Given the description of an element on the screen output the (x, y) to click on. 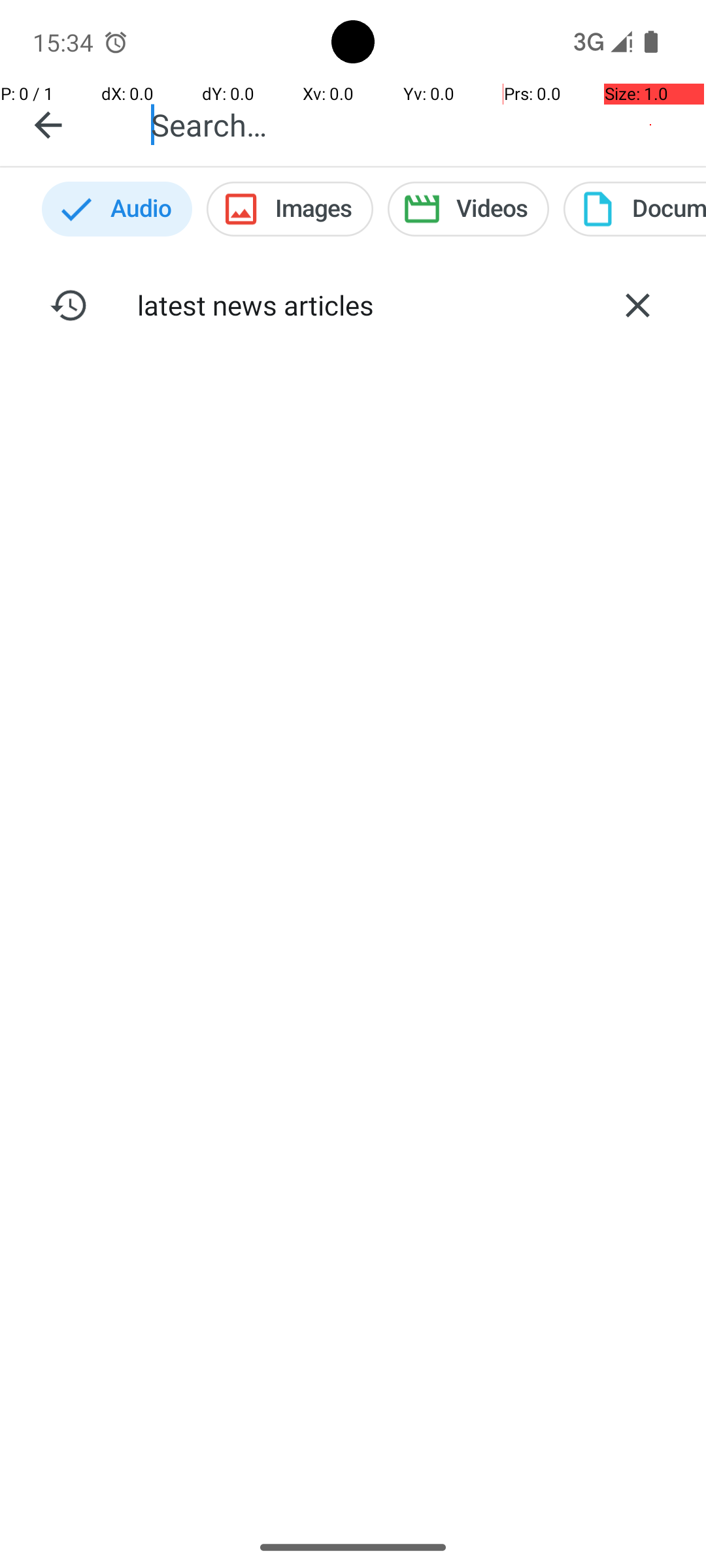
latest news articles Element type: android.widget.TextView (352, 304)
Delete search history latest news articles Element type: android.widget.ImageView (637, 304)
